Given the description of an element on the screen output the (x, y) to click on. 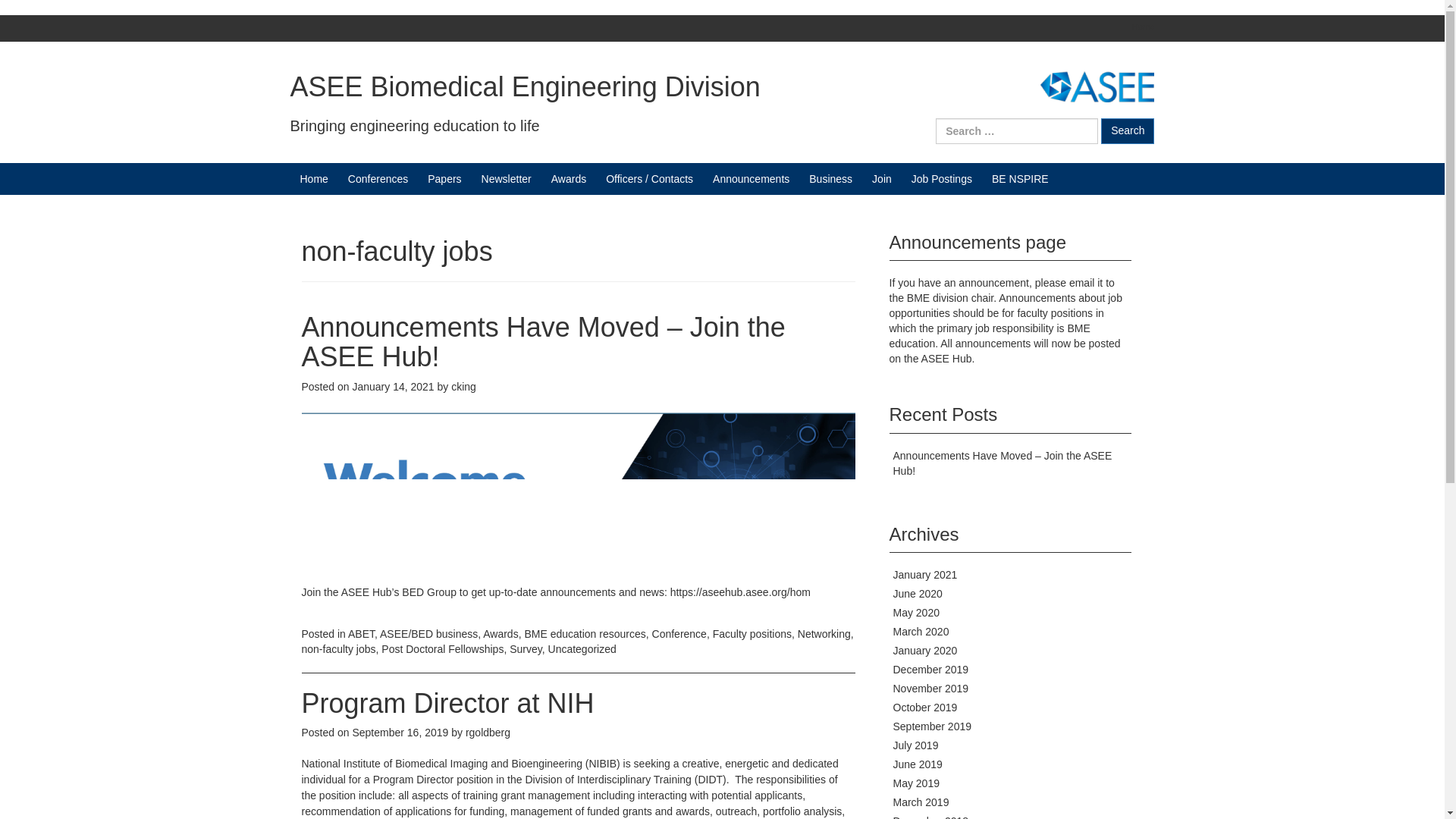
Conference (679, 633)
cking (463, 386)
View all posts by rgoldberg (488, 732)
Search (1127, 130)
ABET (360, 633)
Skip to content (34, 22)
View all posts by cking (463, 386)
BE NSPIRE (1019, 178)
Networking (823, 633)
Newsletter (506, 178)
